Given the description of an element on the screen output the (x, y) to click on. 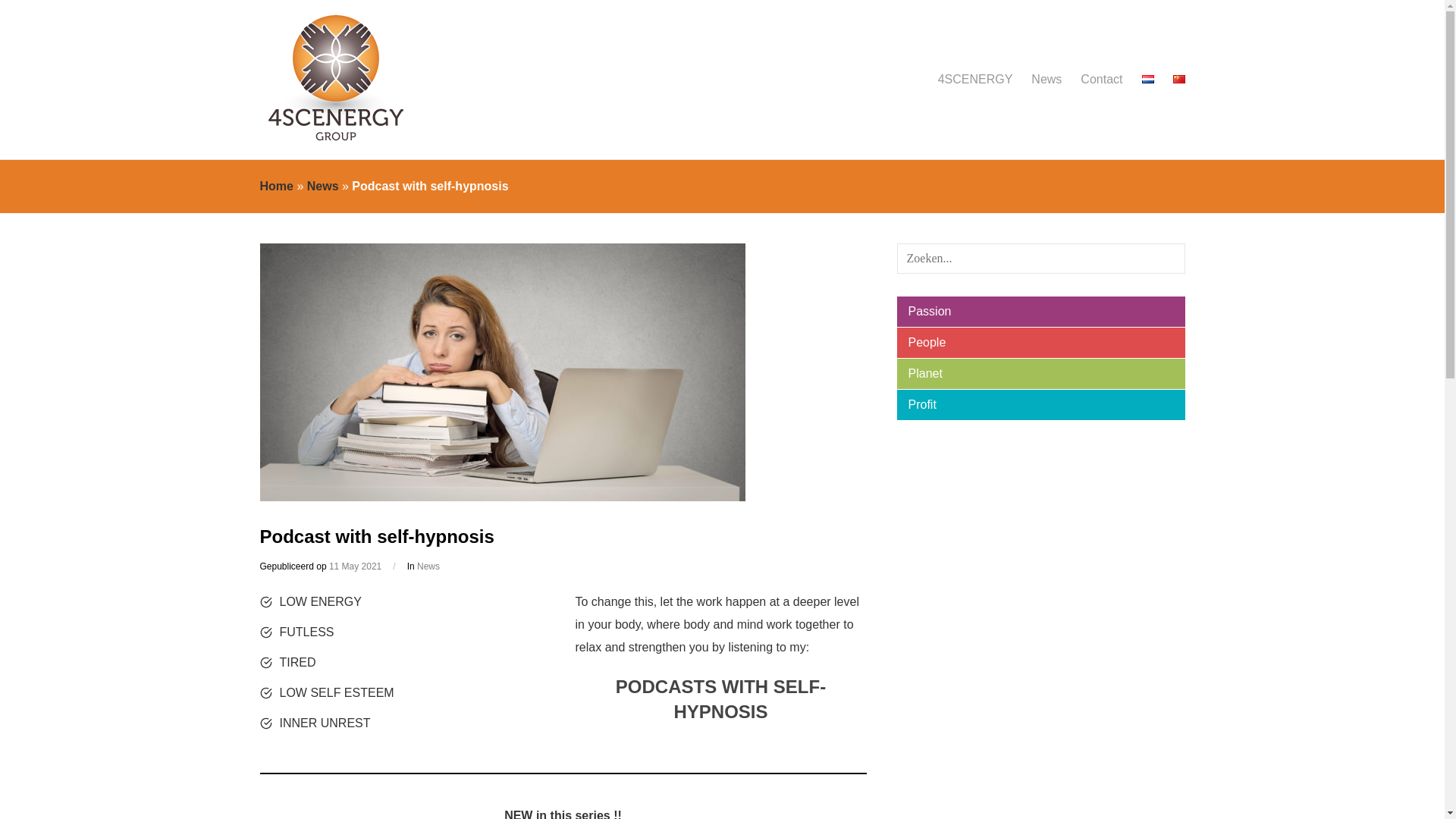
Profit (1040, 404)
News (427, 566)
Contact (1101, 79)
Home (275, 185)
Passion (1040, 311)
Planet (1040, 373)
People (1040, 342)
News (323, 185)
News (427, 566)
News (1045, 79)
4SCENERGY (975, 79)
